Given the description of an element on the screen output the (x, y) to click on. 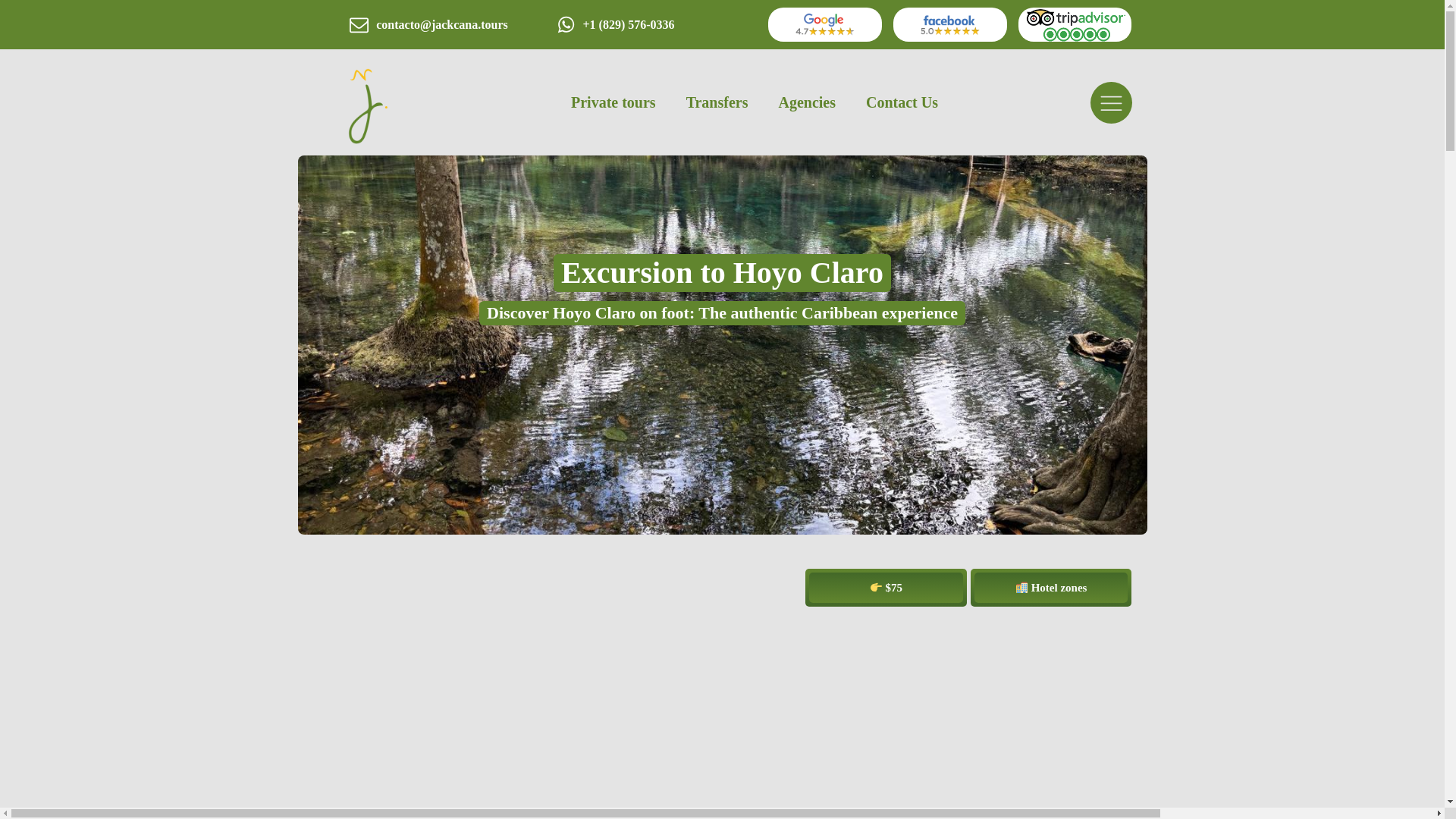
Private tours (613, 102)
Agencies (806, 102)
Contact Us (901, 102)
 Hotel zones (1051, 587)
Transfers (716, 102)
